Given the description of an element on the screen output the (x, y) to click on. 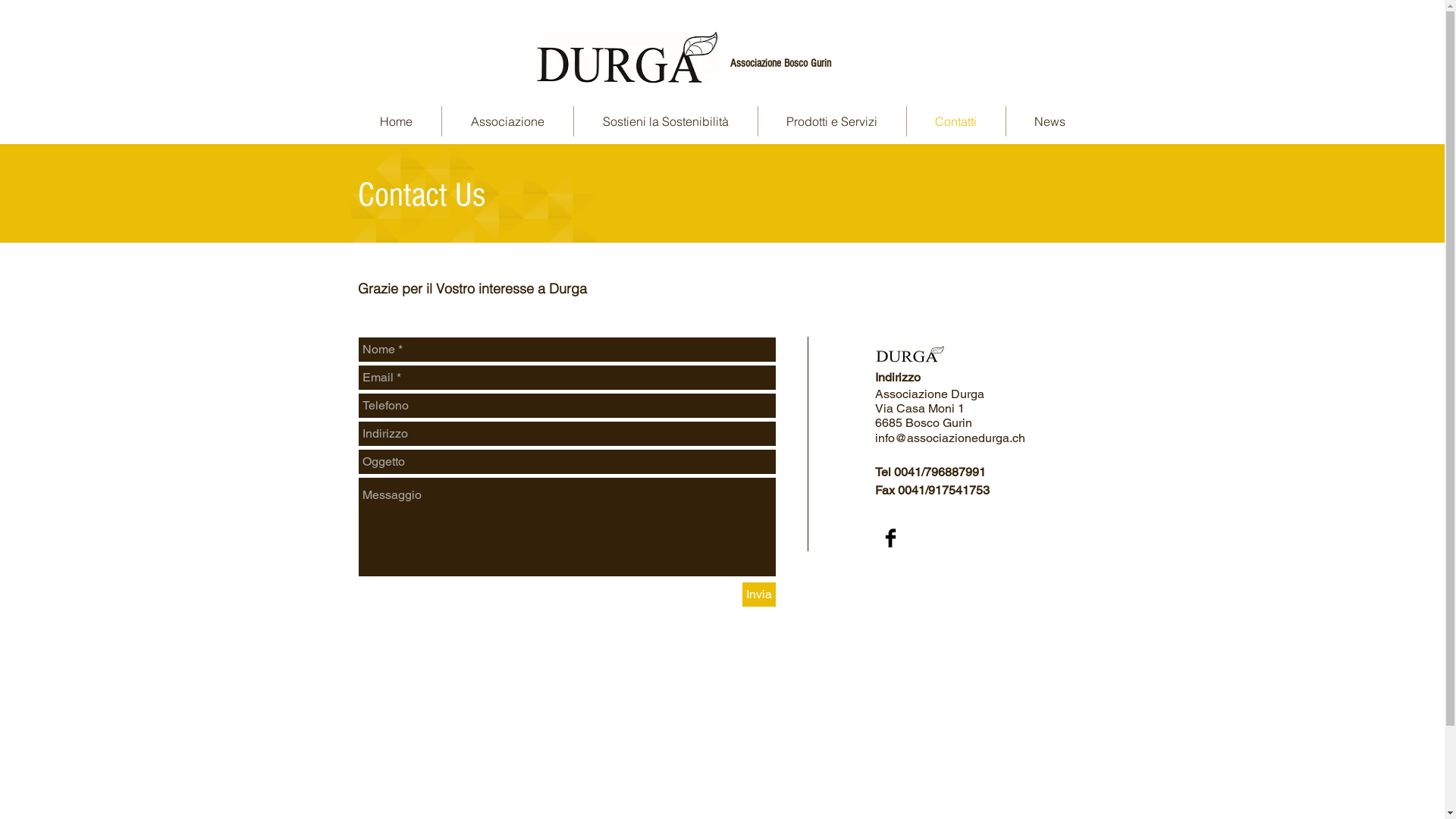
Associazione Element type: text (506, 121)
Prodotti e Servizi Element type: text (832, 121)
WEB-STAT Element type: hover (77, 9)
Home Element type: text (395, 121)
Associazione Bosco Gurin Element type: text (779, 62)
Invia Element type: text (758, 594)
News Element type: text (1049, 121)
Contatti Element type: text (955, 121)
info@associazionedurga.ch Element type: text (950, 437)
